Given the description of an element on the screen output the (x, y) to click on. 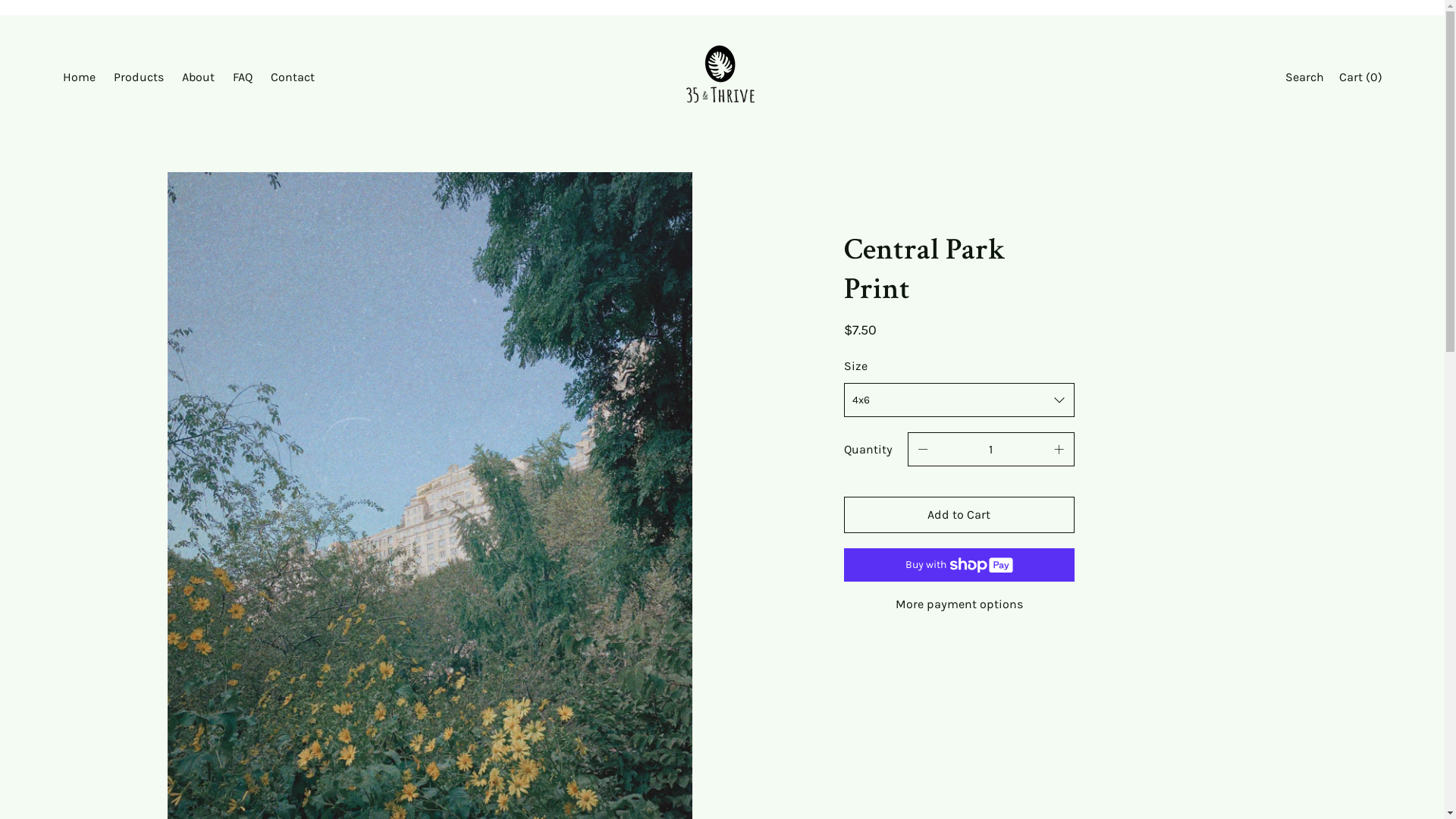
Home Element type: text (78, 77)
More payment options Element type: text (958, 604)
Products Element type: text (138, 77)
Cart (0) Element type: text (1360, 77)
Contact Element type: text (291, 77)
Search Element type: text (1303, 77)
Add to Cart Element type: text (958, 514)
FAQ Element type: text (241, 77)
About Element type: text (198, 77)
